Given the description of an element on the screen output the (x, y) to click on. 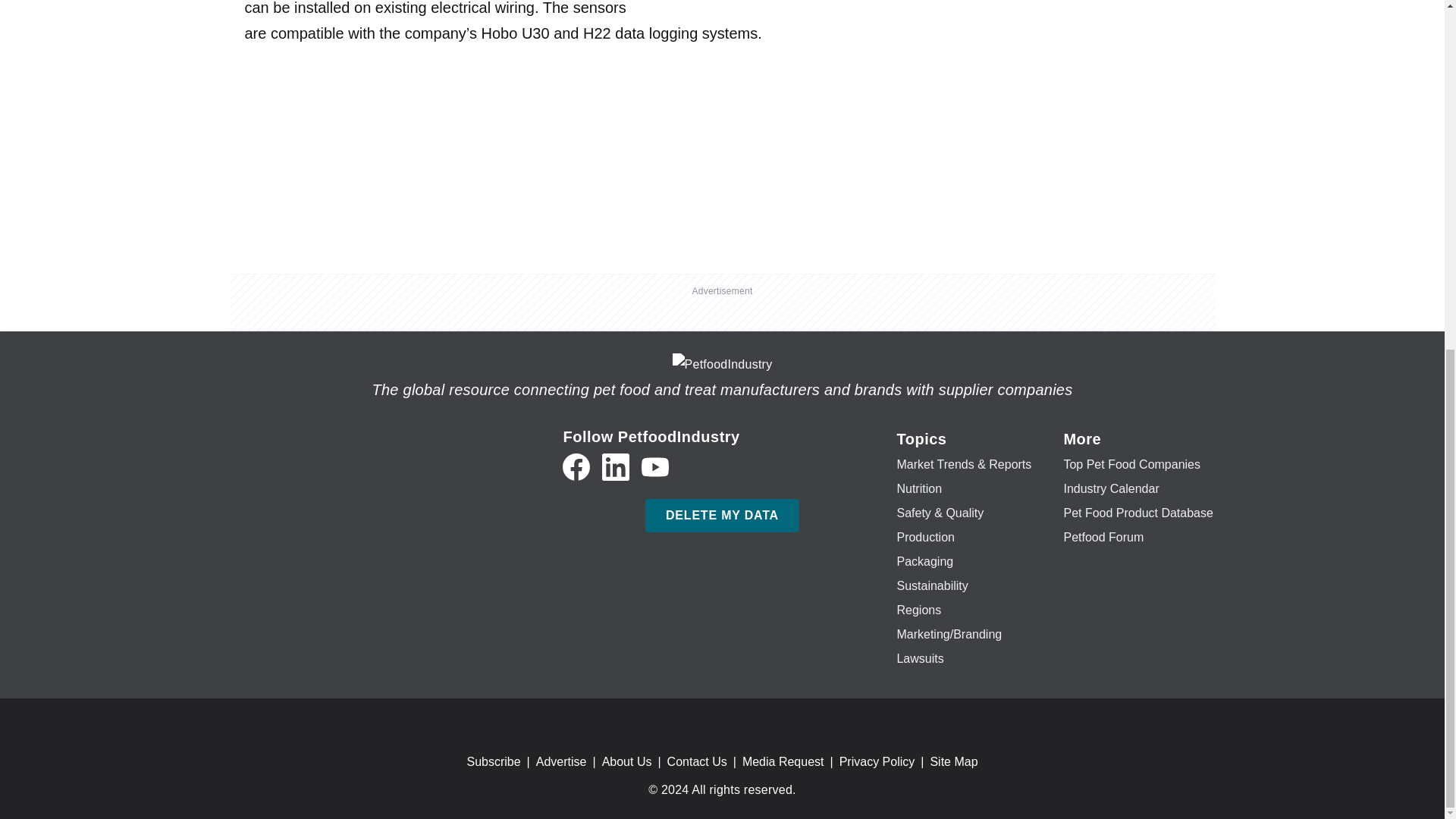
Visit us on Facebook (575, 466)
LinkedIn icon (615, 466)
YouTube icon (655, 466)
Facebook icon (575, 466)
Visit us on Linkedin (615, 466)
Visit us on Youtube (655, 466)
